Given the description of an element on the screen output the (x, y) to click on. 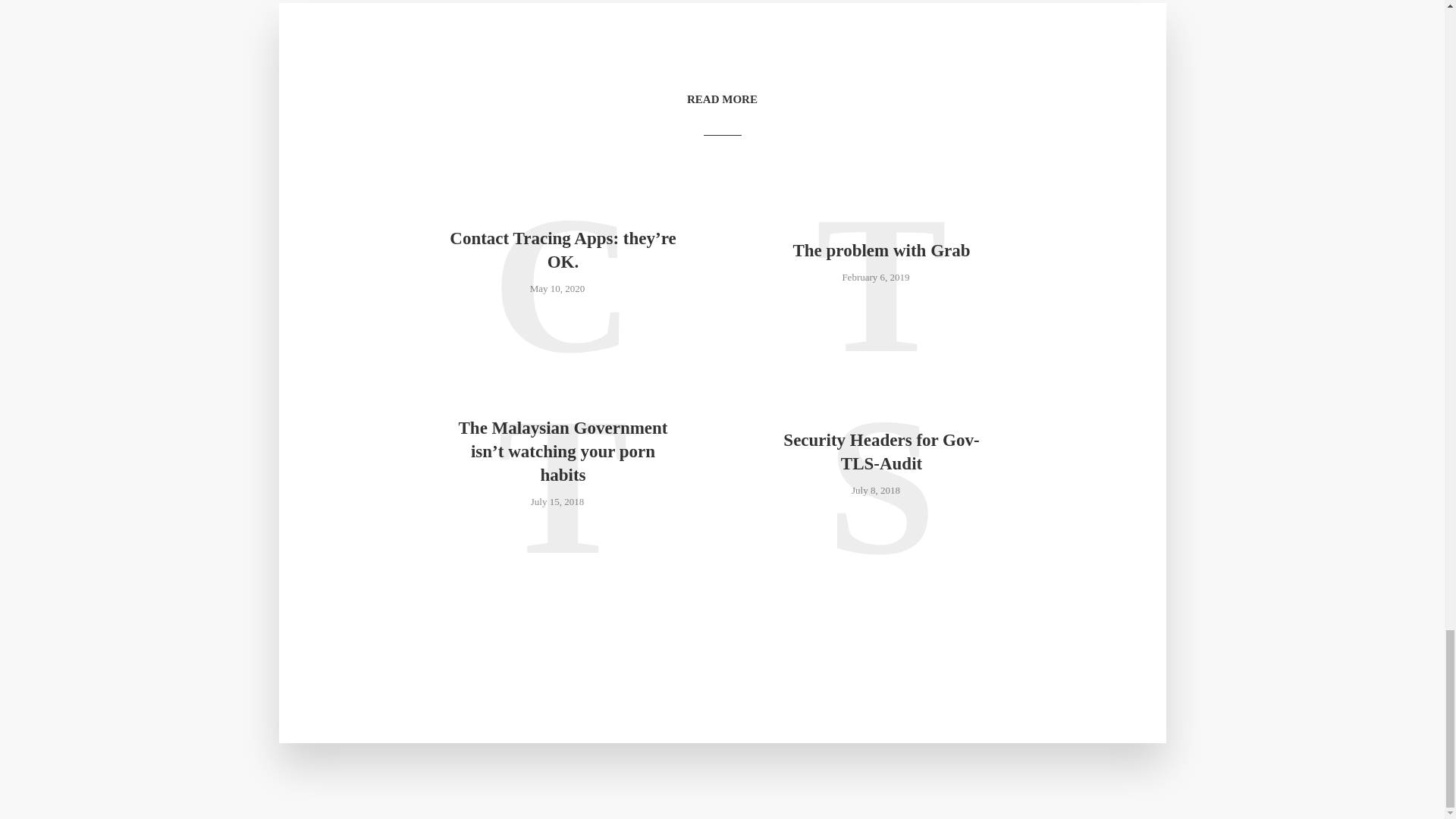
The problem with Grab (880, 250)
Security Headers for Gov-TLS-Audit (880, 451)
